Given the description of an element on the screen output the (x, y) to click on. 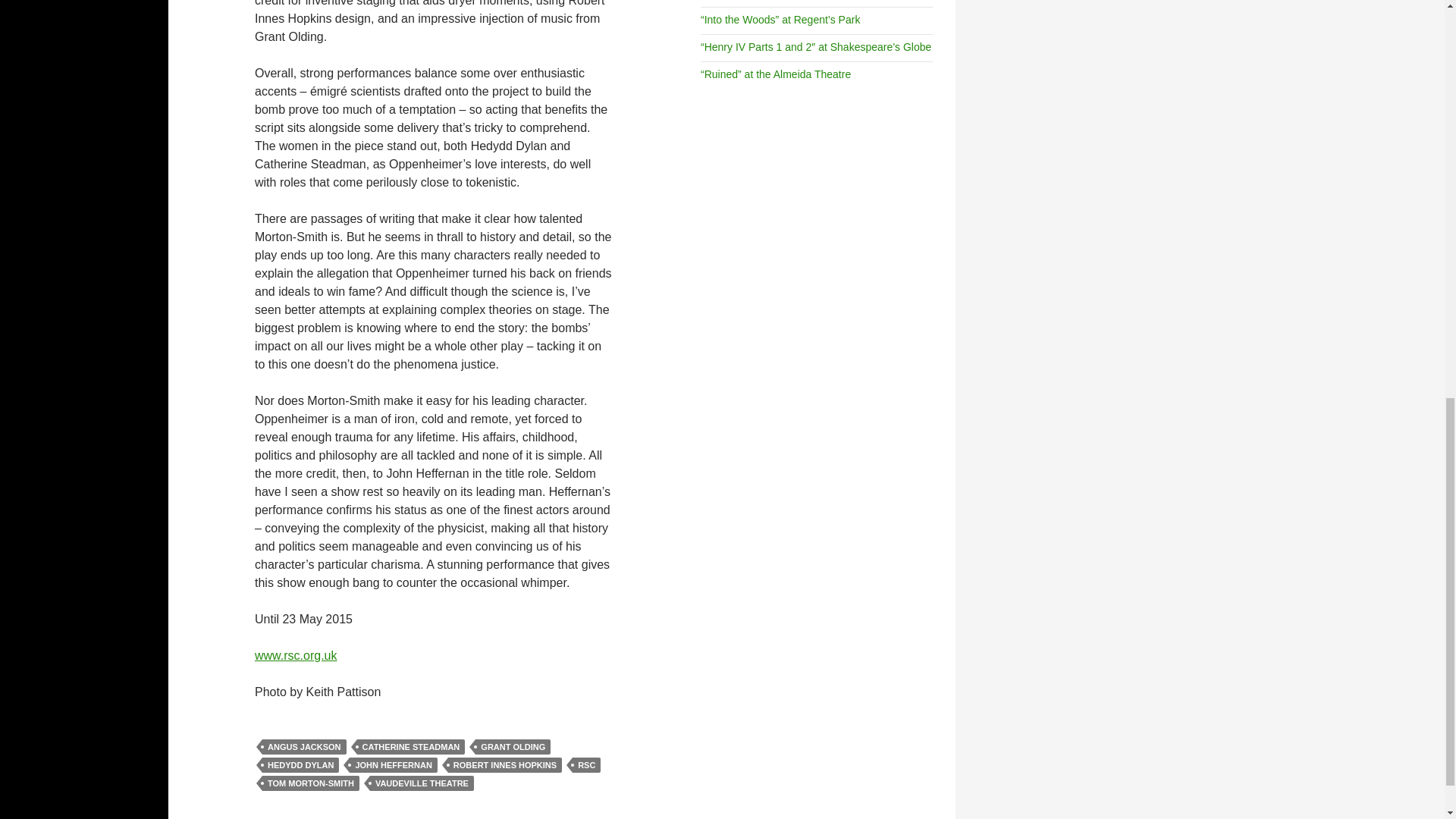
RSC (585, 765)
JOHN HEFFERNAN (392, 765)
ANGUS JACKSON (304, 746)
TOM MORTON-SMITH (310, 783)
GRANT OLDING (513, 746)
HEDYDD DYLAN (300, 765)
CATHERINE STEADMAN (410, 746)
ROBERT INNES HOPKINS (505, 765)
VAUDEVILLE THEATRE (421, 783)
www.rsc.org.uk (295, 655)
